Given the description of an element on the screen output the (x, y) to click on. 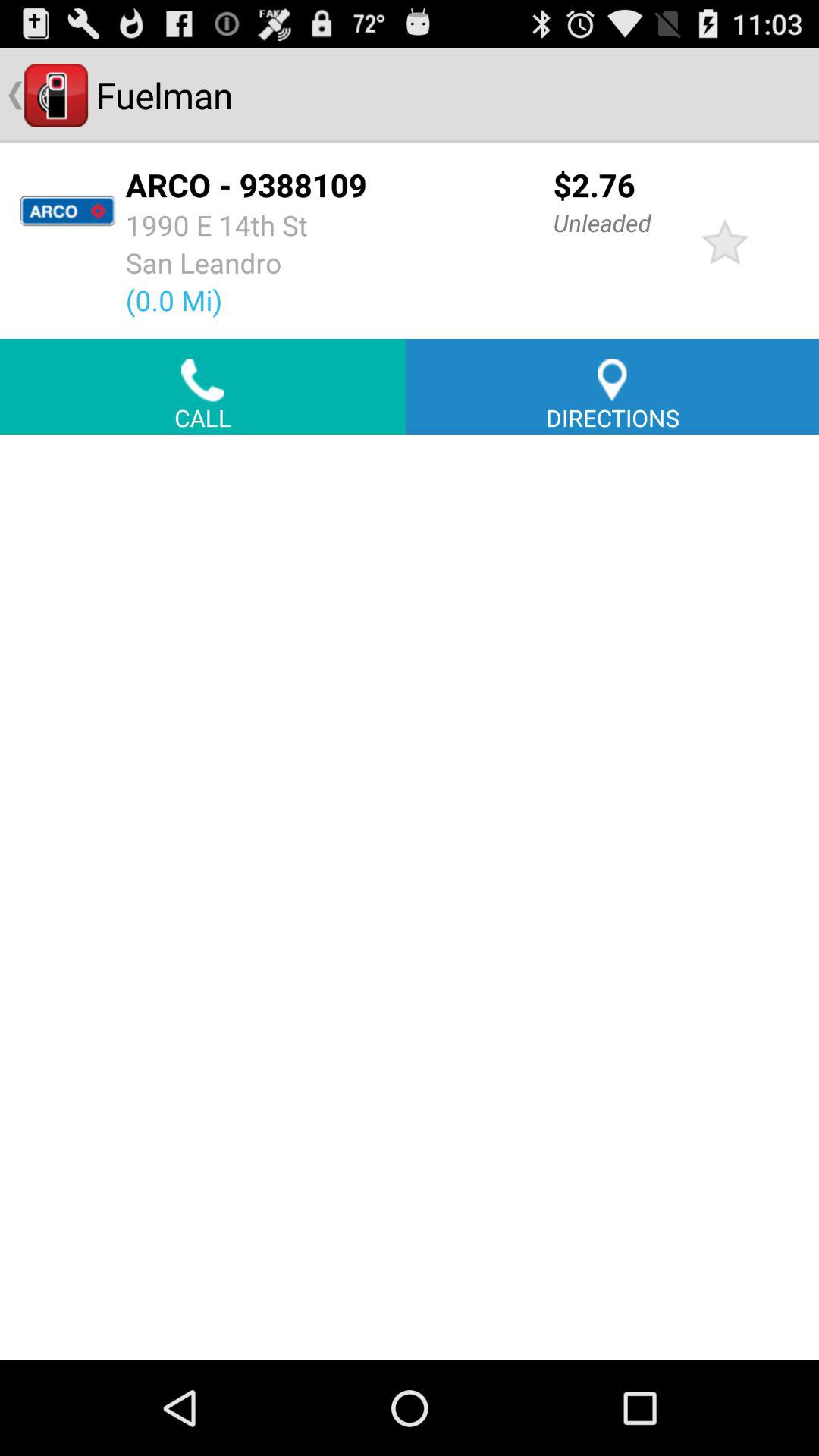
mark the location (724, 240)
